Given the description of an element on the screen output the (x, y) to click on. 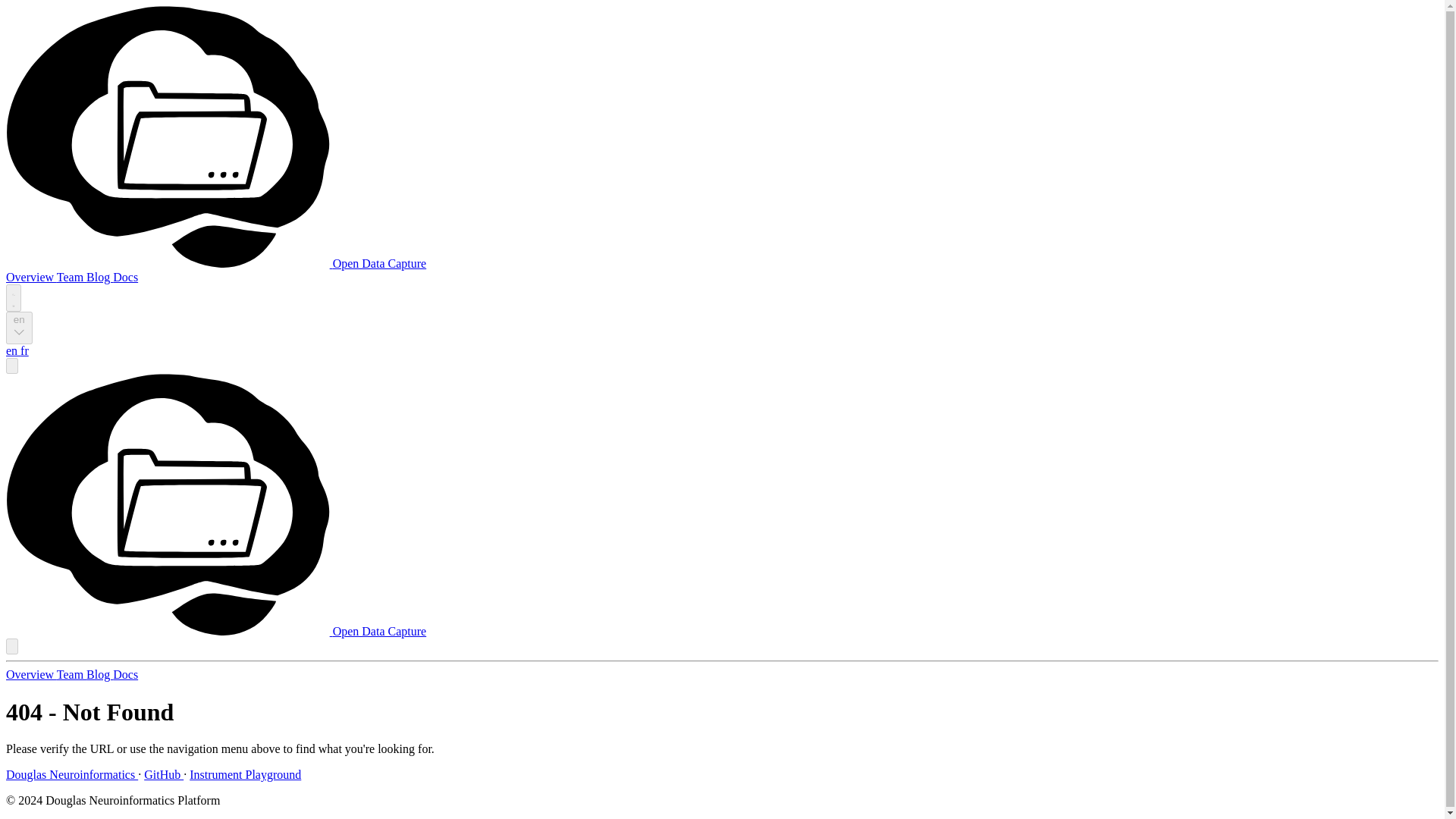
Team (70, 674)
Douglas Neuroinformatics (71, 774)
GitHub (163, 774)
Blog (99, 277)
Overview (30, 277)
Open Data Capture (215, 263)
Docs (125, 277)
Blog (99, 674)
Team (70, 277)
Overview (30, 674)
Docs (125, 674)
en (12, 350)
Instrument Playground (245, 774)
Open Data Capture (215, 631)
